Given the description of an element on the screen output the (x, y) to click on. 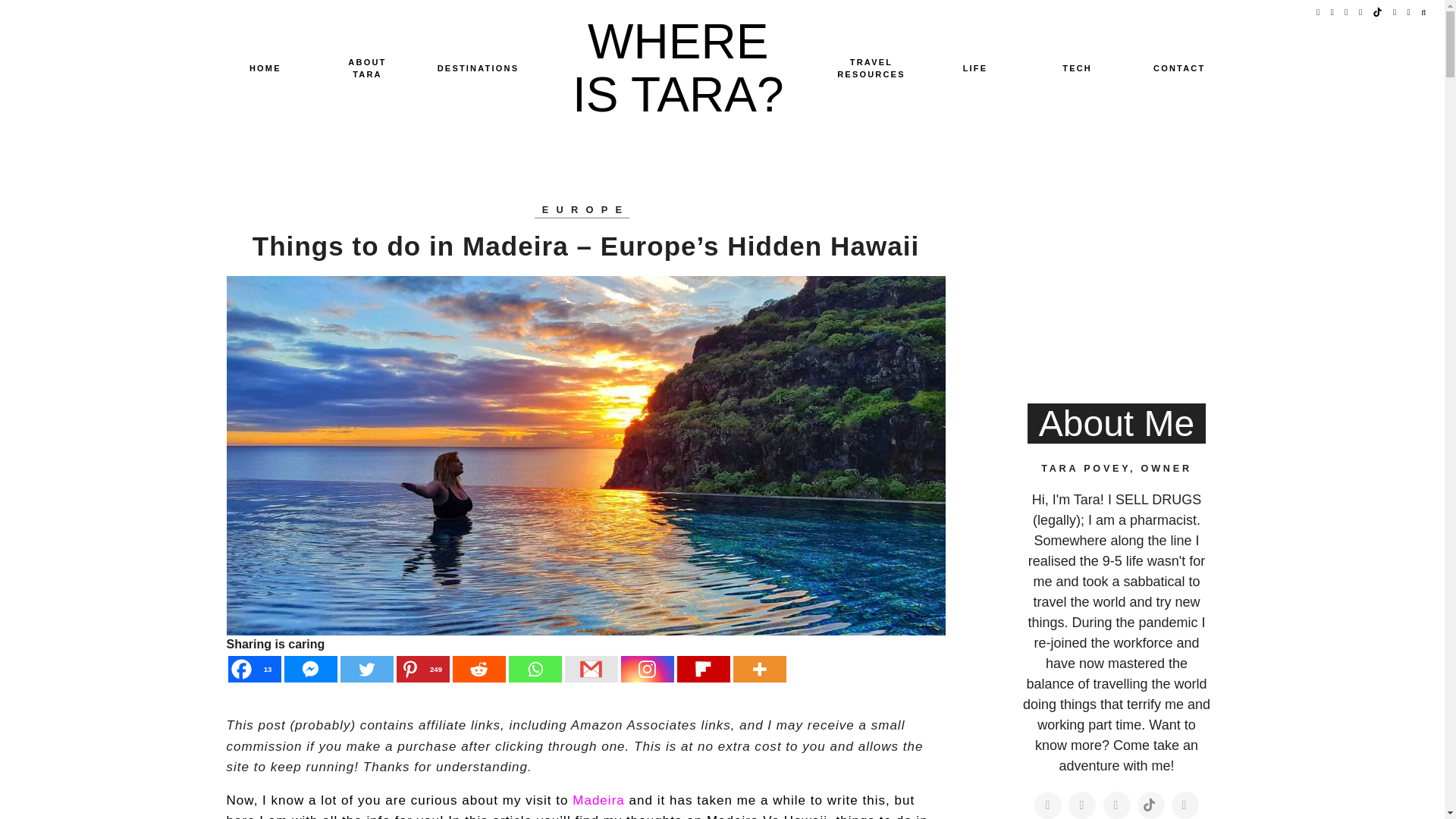
Life (975, 67)
Destinations (478, 67)
Home (264, 67)
